Given the description of an element on the screen output the (x, y) to click on. 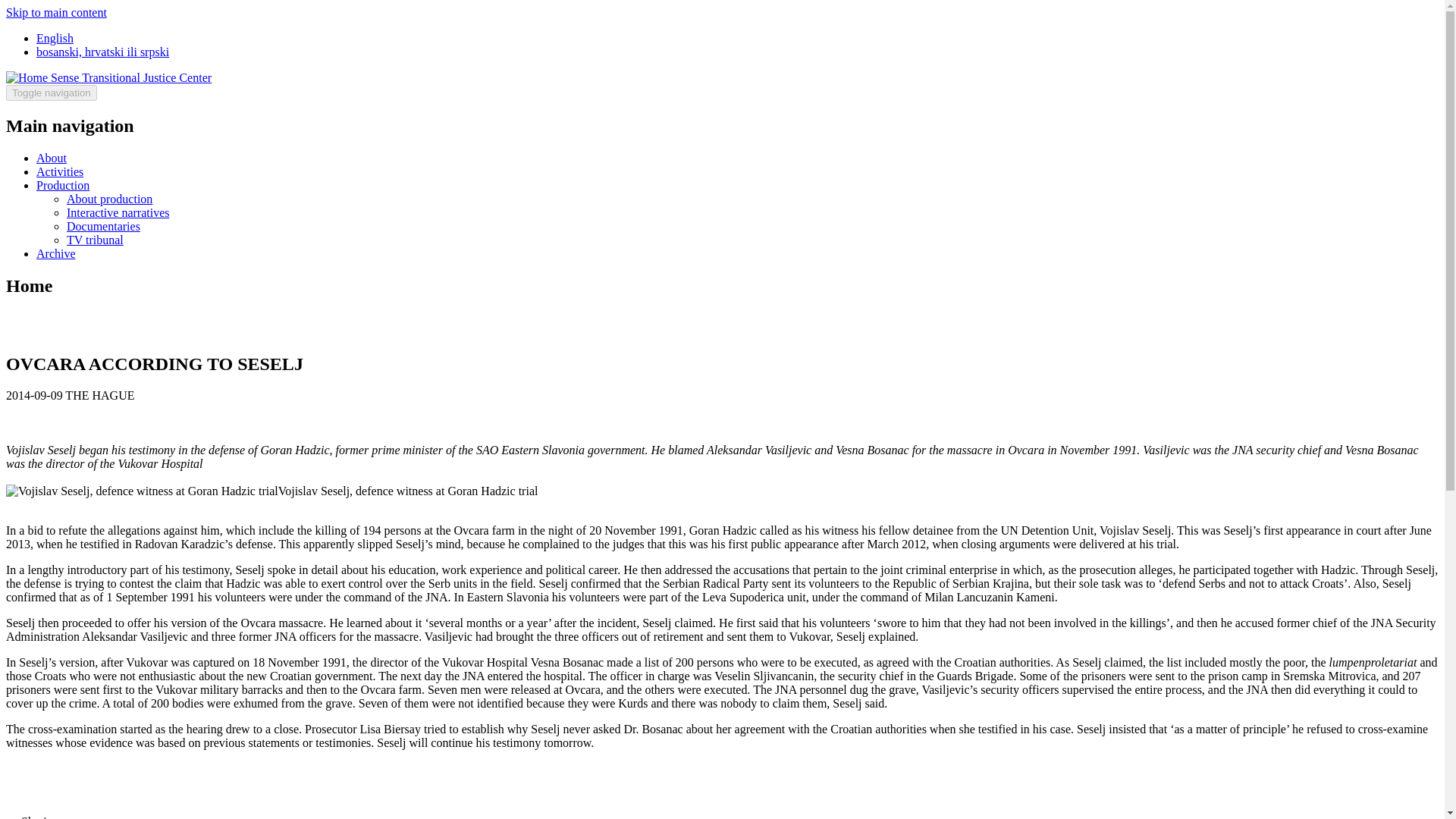
Archive (55, 253)
About the SENSE Center (51, 157)
Home (27, 77)
English (55, 38)
bosanski, hrvatski ili srpski (102, 51)
Skip to main content (55, 11)
Documentaries (102, 226)
Toggle navigation (51, 92)
About (51, 157)
Vojislav Seselj, defence witness at Goran Hadzic trial (141, 490)
Interactive narratives (117, 212)
Production (62, 185)
About production (109, 198)
Home (130, 77)
TV tribunal (94, 239)
